Given the description of an element on the screen output the (x, y) to click on. 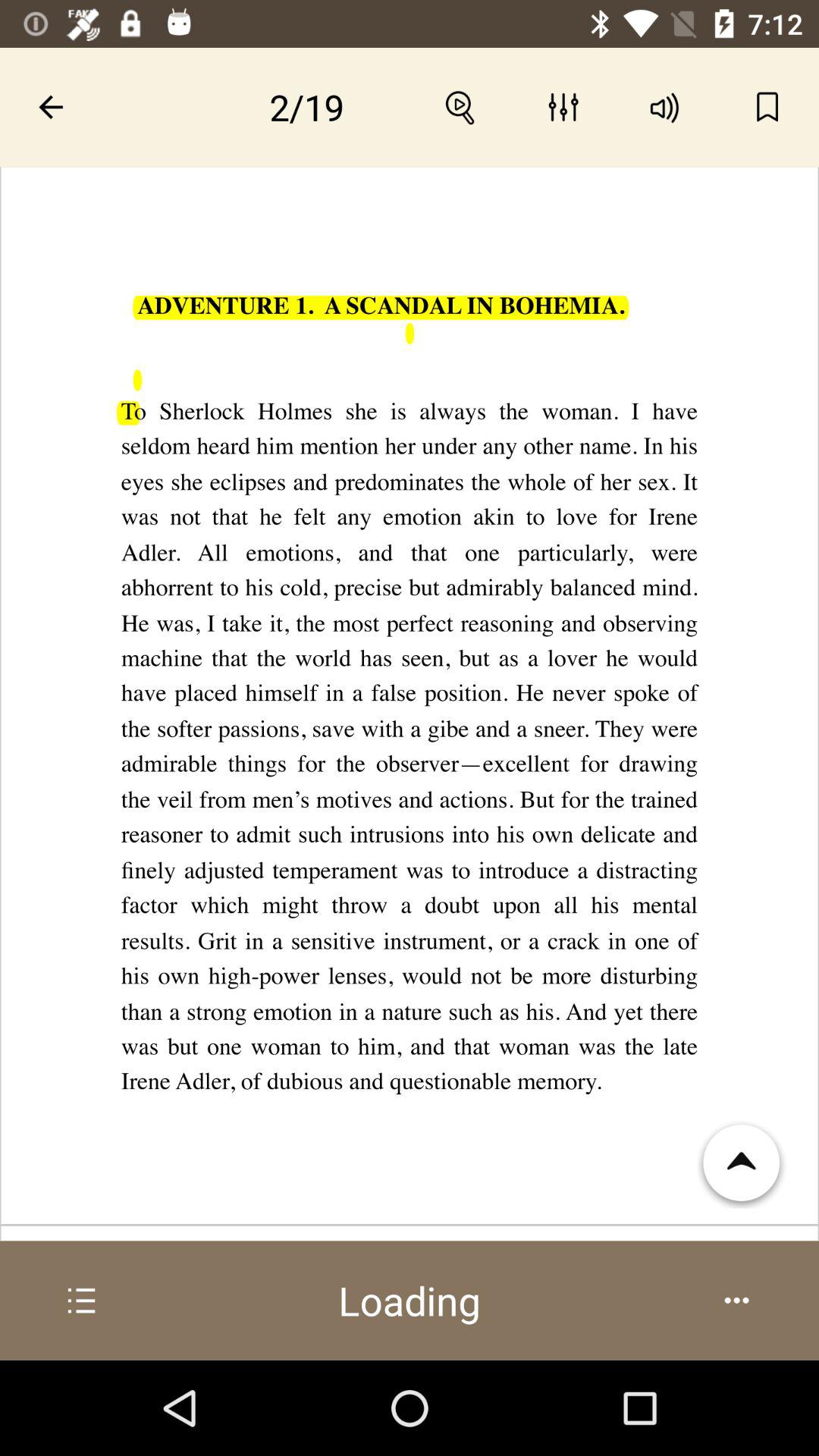
select bookmark (767, 106)
